Given the description of an element on the screen output the (x, y) to click on. 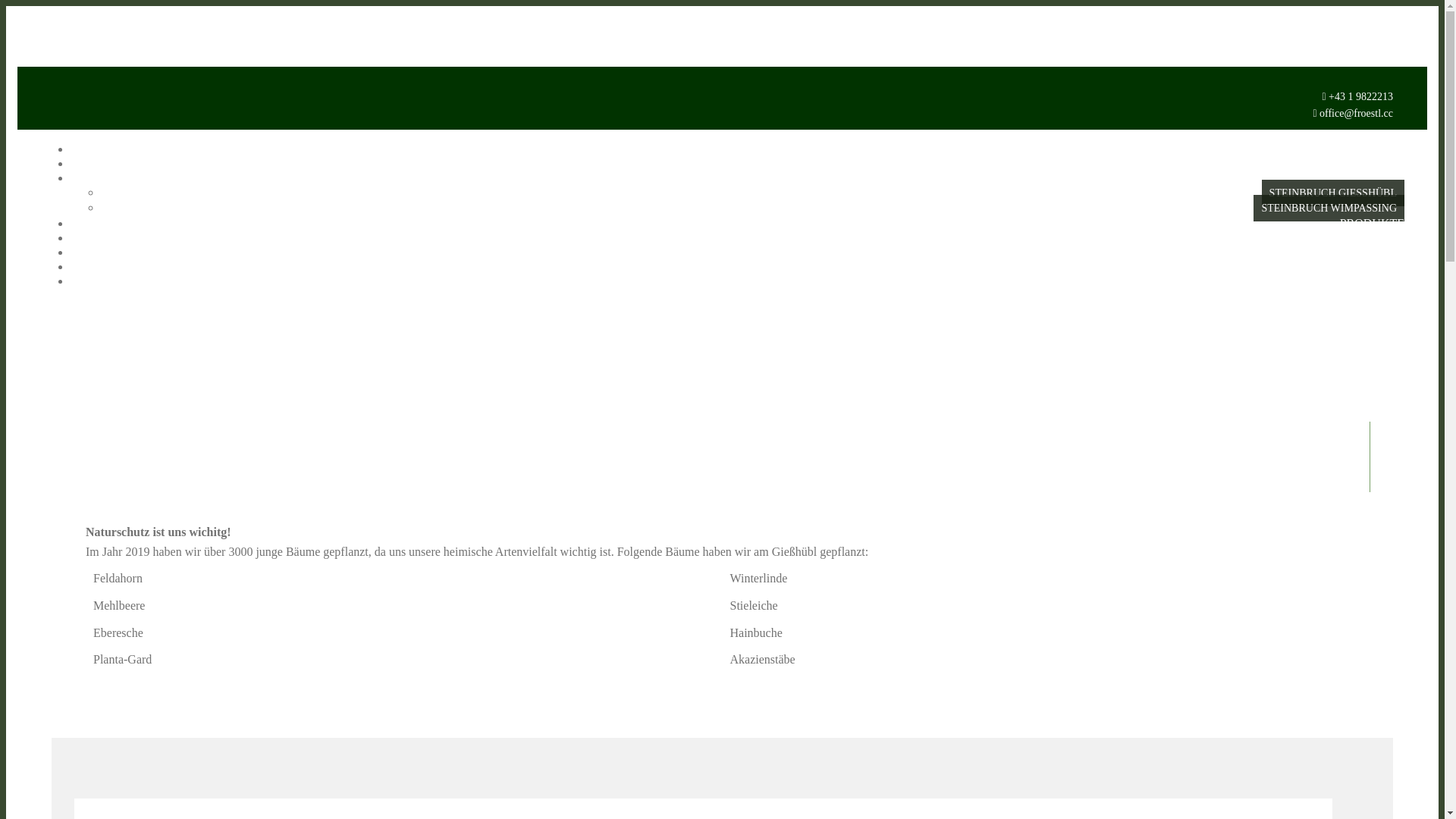
KONTAKT Element type: text (1375, 252)
HOME Element type: text (1386, 149)
+43 1 9822213 Element type: text (1360, 96)
LIEFERGEBIETE Element type: text (1358, 237)
PRODUKTE Element type: text (1371, 222)
STEINBRUCH WIMPASSING Element type: text (1328, 207)
Logo Element type: hover (51, 81)
office@froestl.cc Element type: text (1356, 113)
IMPRESSUM Element type: text (1369, 266)
